Given the description of an element on the screen output the (x, y) to click on. 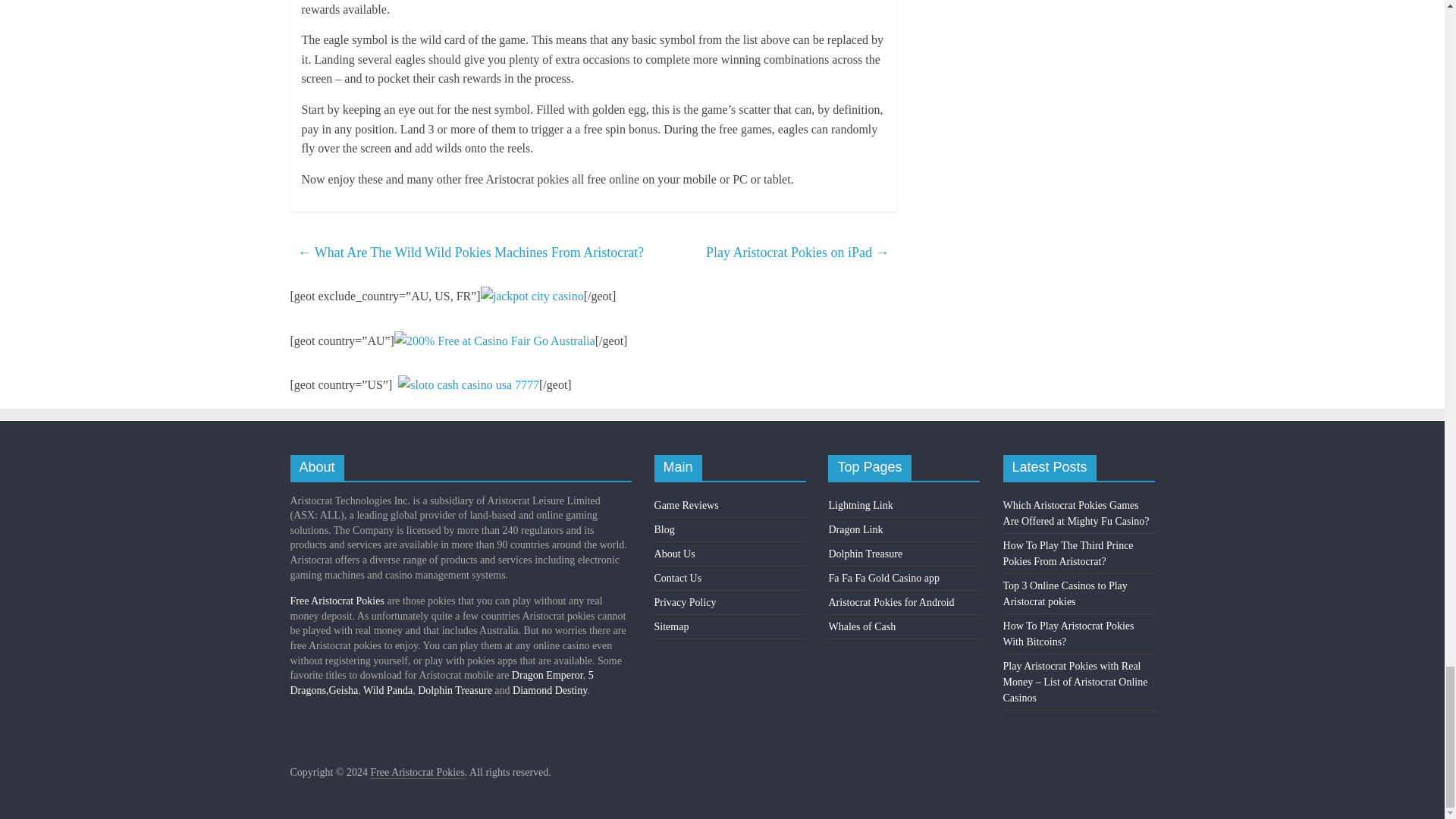
5 Dragons, (440, 682)
Wild Panda (387, 690)
Dragon Link (855, 529)
Fa Fa Fa Gold Casino app (883, 577)
Game Reviews (686, 505)
Blog (664, 529)
Sitemap (670, 626)
Diamond Destiny (549, 690)
Geisha (343, 690)
About Us (674, 553)
Dolphin Treasure (454, 690)
Lightning Link (860, 505)
Dragon Emperor (547, 674)
Free Aristocrat Pokies (336, 600)
Privacy Policy (684, 602)
